Given the description of an element on the screen output the (x, y) to click on. 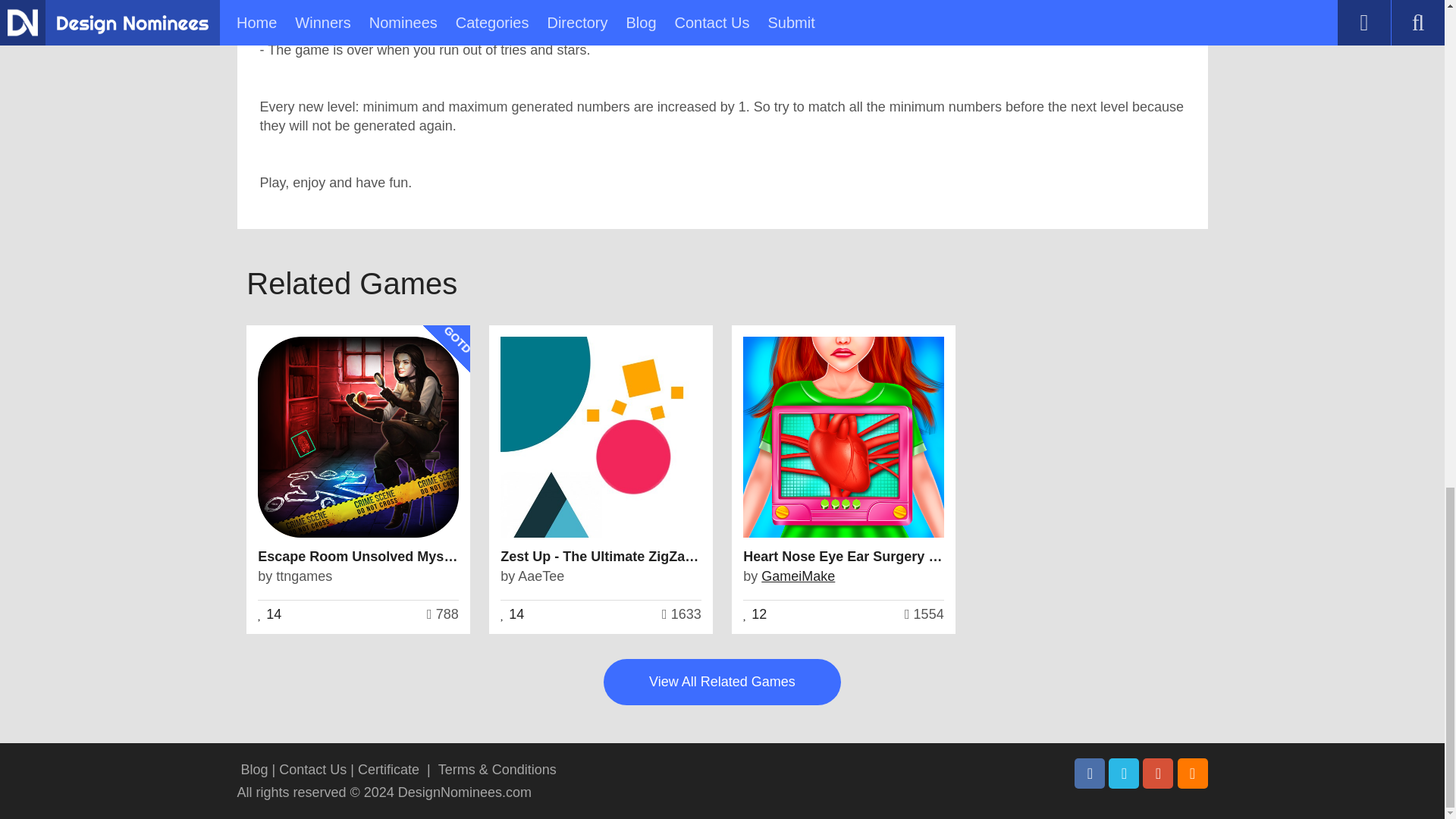
Facebook (1089, 773)
Pinterest (1157, 773)
Twitter (1123, 773)
Rss (1191, 773)
